Given the description of an element on the screen output the (x, y) to click on. 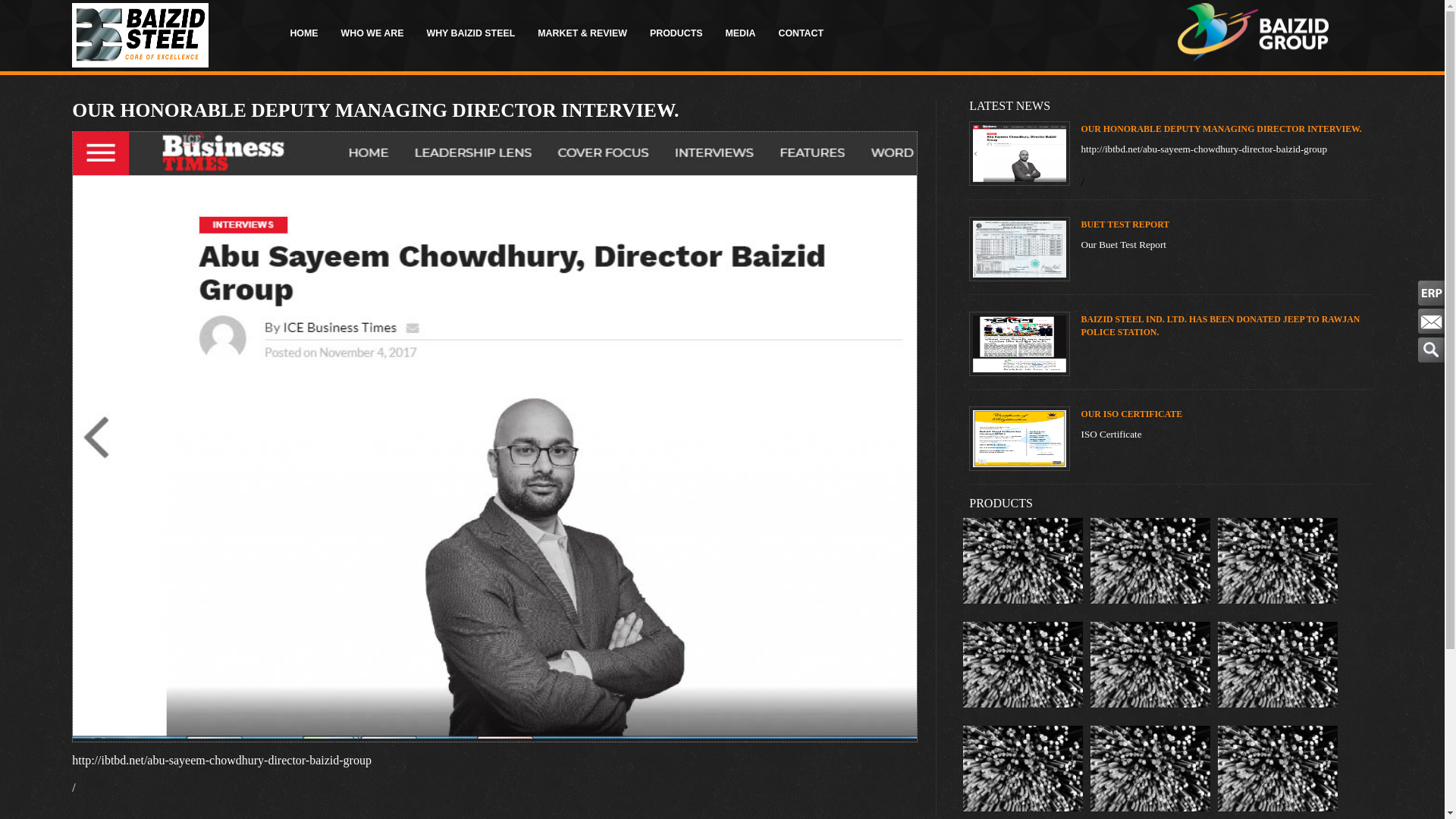
MARKET & REVIEW Element type: text (582, 33)
BUET TEST REPORT Element type: text (1125, 224)
20 mm QST BAR 500+ Element type: hover (1022, 710)
CONTACT Element type: text (800, 33)
OUR HONORABLE DEPUTY MANAGING DIRECTOR INTERVIEW. Element type: text (1221, 128)
OUR ISO CERTIFICATE Element type: text (1132, 413)
12 mm QST BAR 500+ Element type: hover (1150, 606)
16 mm QST BAR 500+ Element type: hover (1277, 606)
22 mm QST BAR 500+ Element type: hover (1277, 710)
HOME Element type: text (303, 33)
WHY BAIZID STEEL Element type: text (470, 33)
08 mm QST BAR 500+ Element type: hover (1022, 606)
PRODUCTS Element type: text (676, 33)
WHO WE ARE Element type: text (372, 33)
MEDIA Element type: text (740, 33)
25 mm QST BAR 500+ Element type: hover (1150, 710)
